Given the description of an element on the screen output the (x, y) to click on. 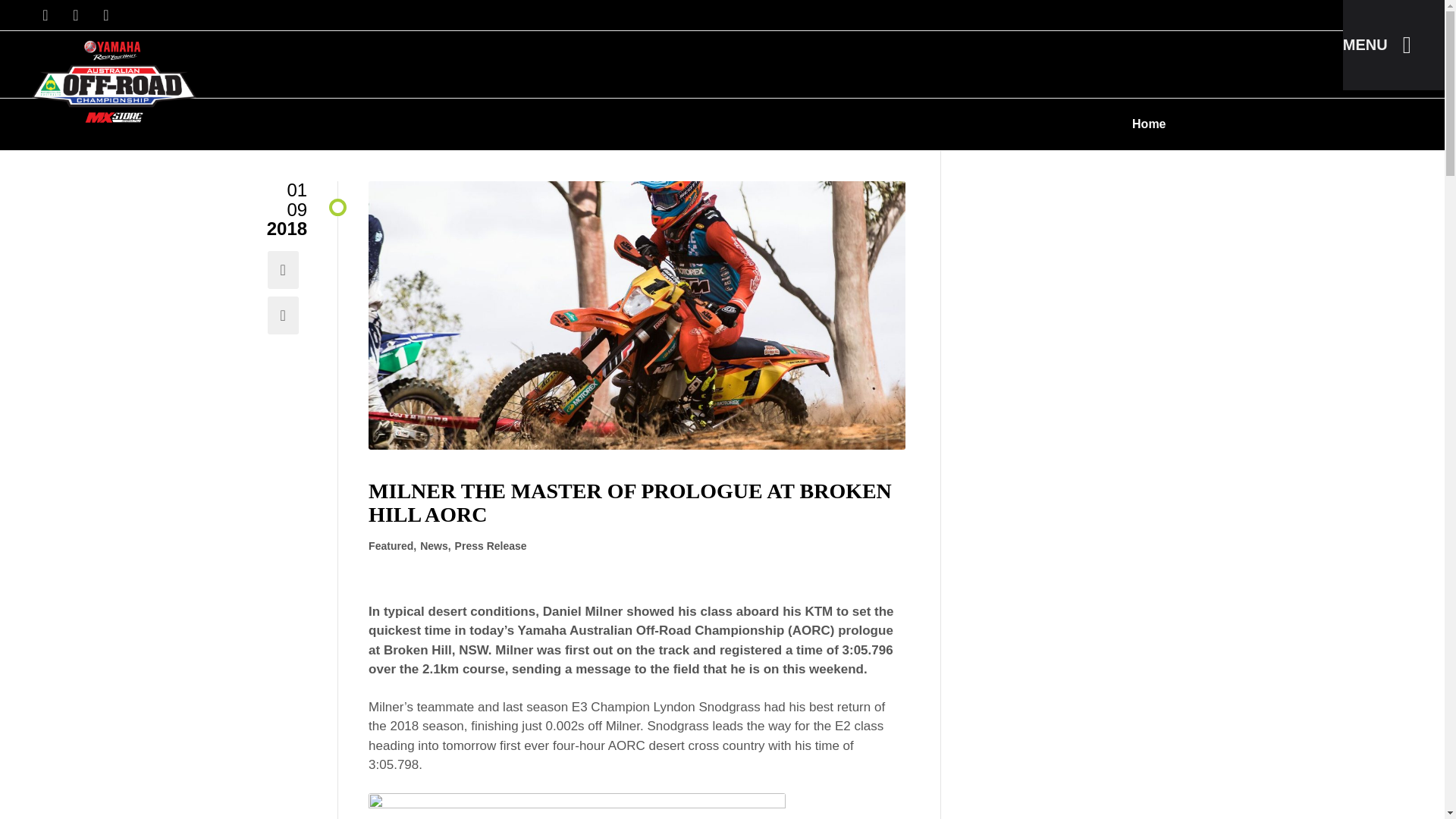
News (434, 546)
Press Release (490, 546)
Featured (390, 546)
